Given the description of an element on the screen output the (x, y) to click on. 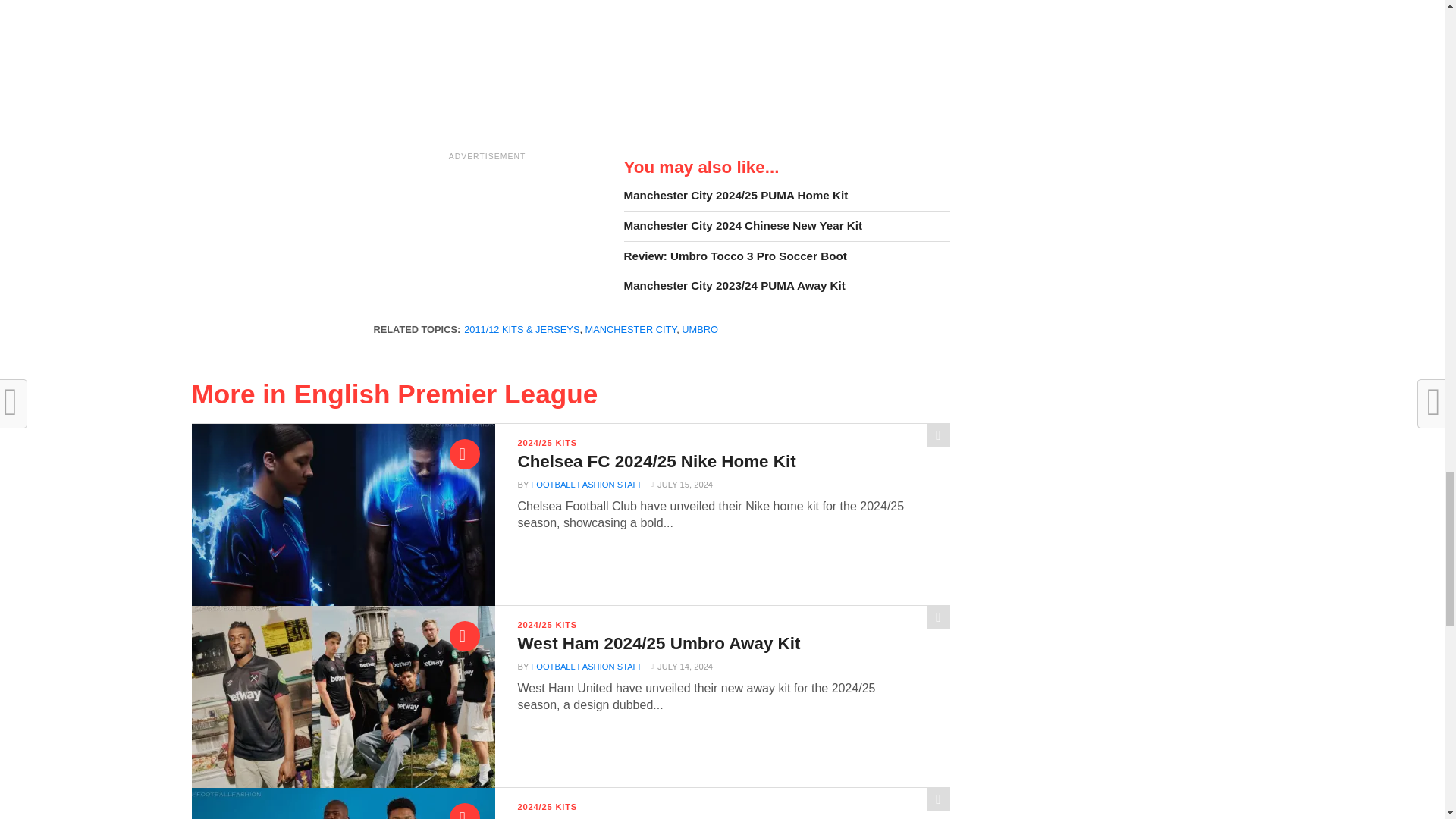
Posts by Football Fashion Staff (587, 483)
